Given the description of an element on the screen output the (x, y) to click on. 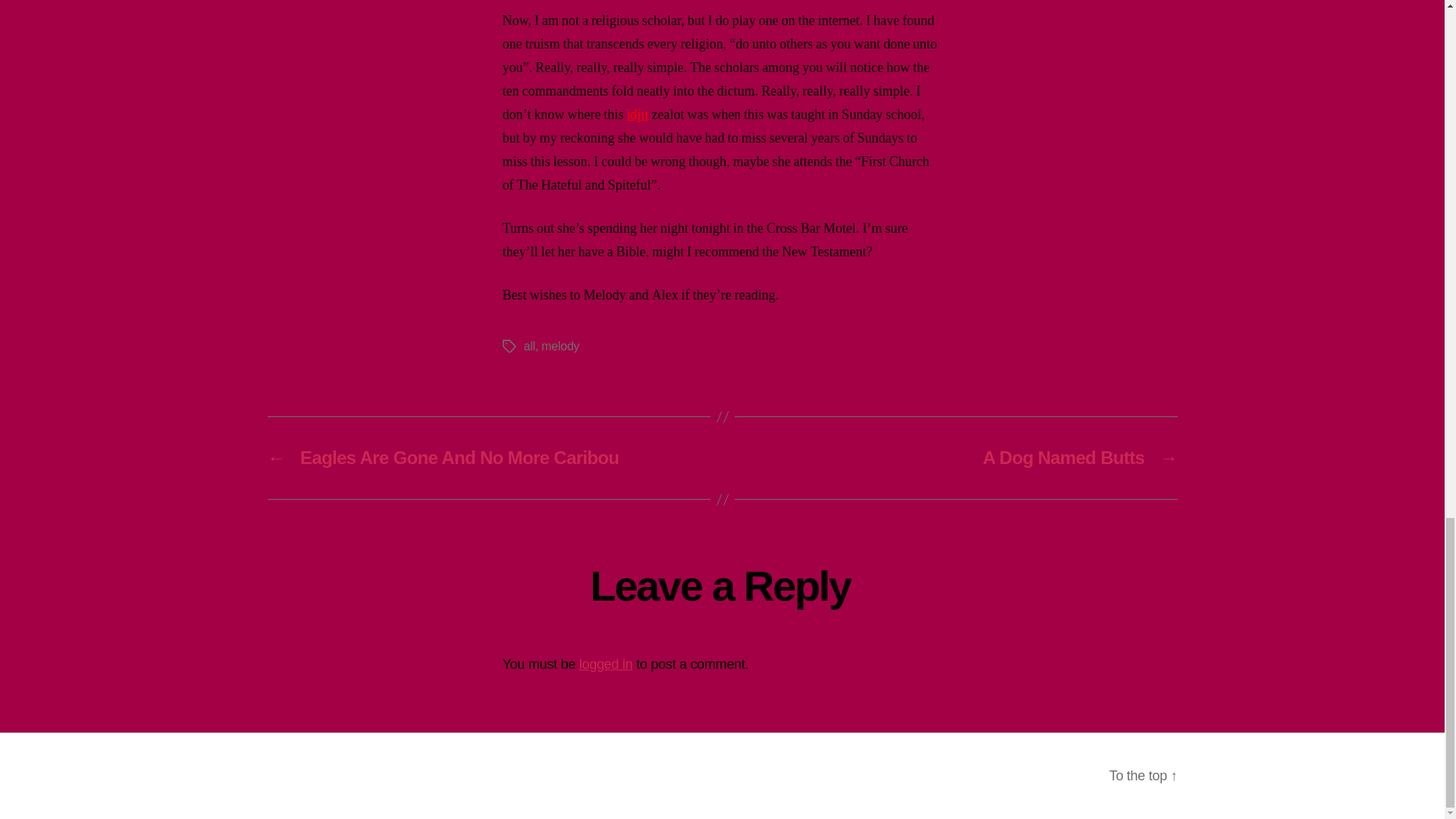
logged in (606, 663)
idjit (636, 114)
melody (560, 345)
Tales From The Trailer Park (400, 775)
